Given the description of an element on the screen output the (x, y) to click on. 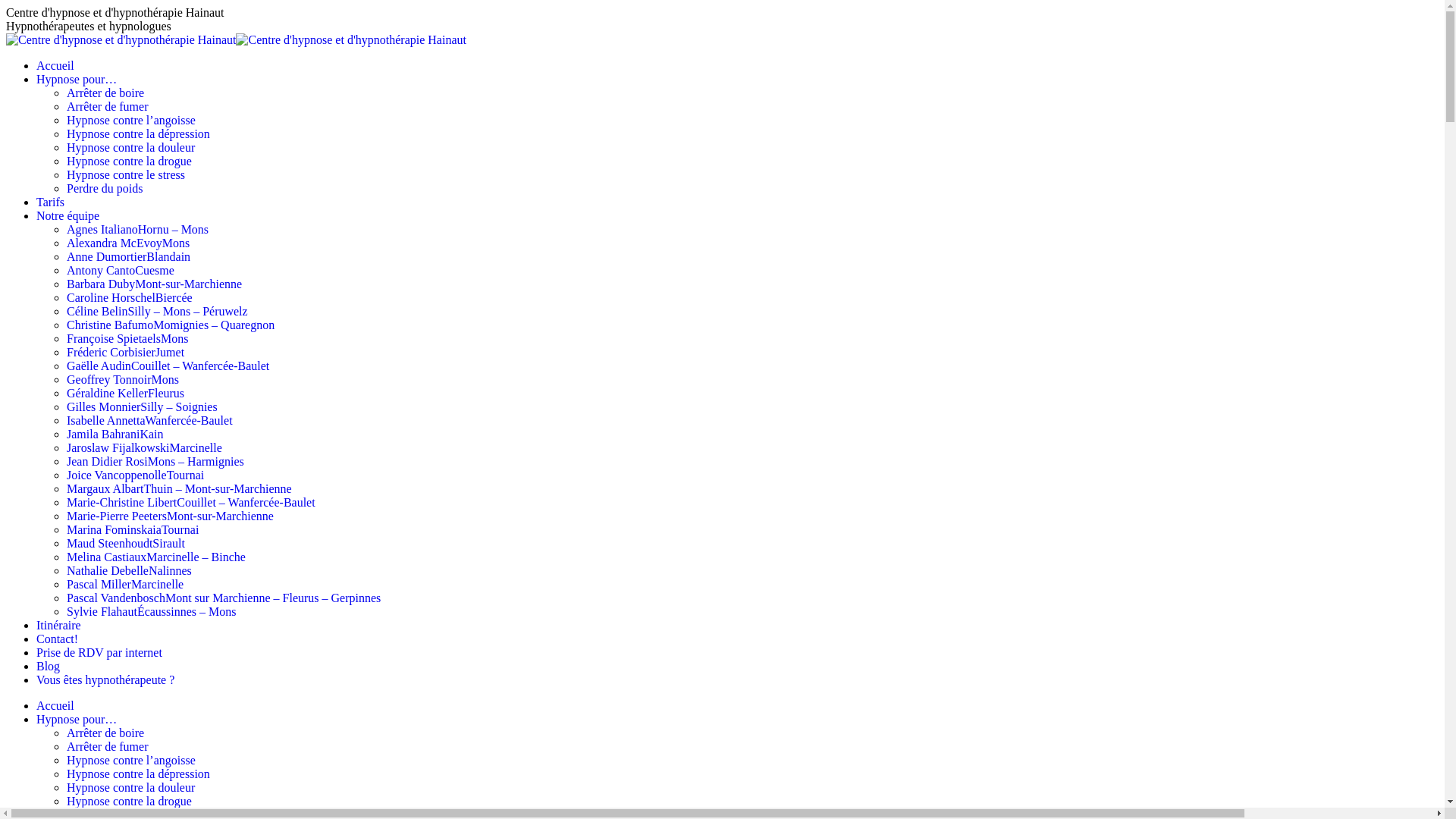
Tarifs Element type: text (50, 201)
Anne DumortierBlandain Element type: text (128, 256)
Alexandra McEvoyMons Element type: text (127, 242)
Perdre du poids Element type: text (104, 188)
Hypnose contre la drogue Element type: text (128, 160)
Nathalie DebelleNalinnes Element type: text (128, 570)
Antony CantoCuesme Element type: text (120, 269)
Blog Element type: text (47, 665)
Hypnose contre la drogue Element type: text (128, 800)
Jamila BahraniKain Element type: text (114, 433)
Hypnose contre la douleur Element type: text (130, 787)
Marie-Pierre PeetersMont-sur-Marchienne Element type: text (169, 515)
Maud SteenhoudtSirault Element type: text (125, 542)
Contact! Element type: text (57, 638)
Barbara DubyMont-sur-Marchienne Element type: text (153, 283)
Jaroslaw FijalkowskiMarcinelle Element type: text (144, 447)
Accueil Element type: text (55, 705)
Hypnose contre le stress Element type: text (125, 174)
Marina FominskaiaTournai Element type: text (132, 529)
Aller au contenu Element type: text (5, 5)
Joice VancoppenolleTournai Element type: text (134, 474)
Pascal MillerMarcinelle Element type: text (124, 583)
Hypnose contre la douleur Element type: text (130, 147)
Geoffrey TonnoirMons Element type: text (122, 379)
Accueil Element type: text (55, 65)
Prise de RDV par internet Element type: text (99, 652)
